Given the description of an element on the screen output the (x, y) to click on. 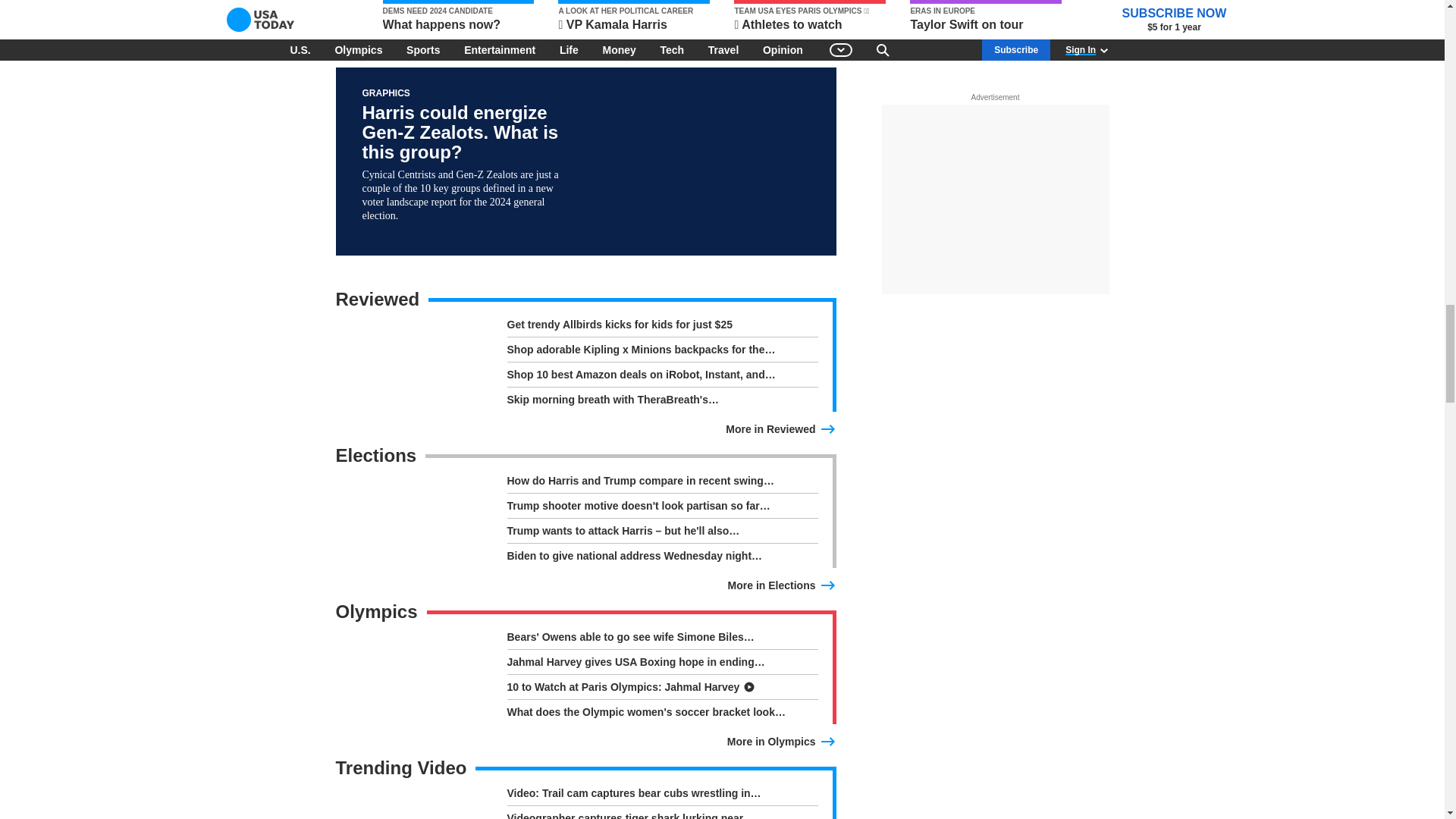
Shop 10 best Amazon deals on iRobot, Instant, and Apple (661, 377)
How do Harris and Trump compare in recent swing state polls? (661, 483)
